Given the description of an element on the screen output the (x, y) to click on. 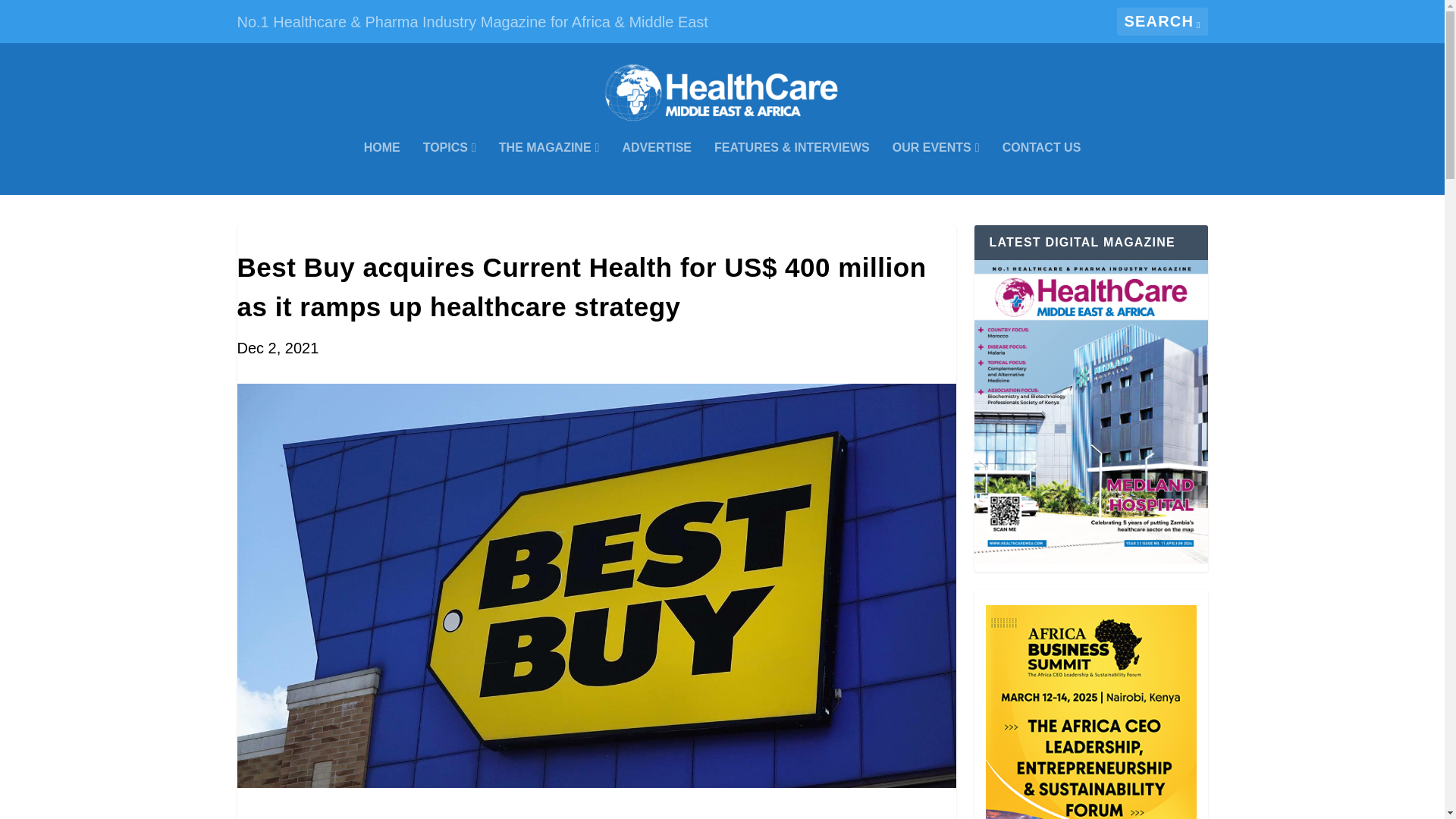
OUR EVENTS (935, 167)
TOPICS (449, 167)
ADVERTISE (656, 167)
THE MAGAZINE (549, 167)
Search for: (1161, 21)
OUR EVENTS (935, 167)
CONTACT US (1042, 167)
